Given the description of an element on the screen output the (x, y) to click on. 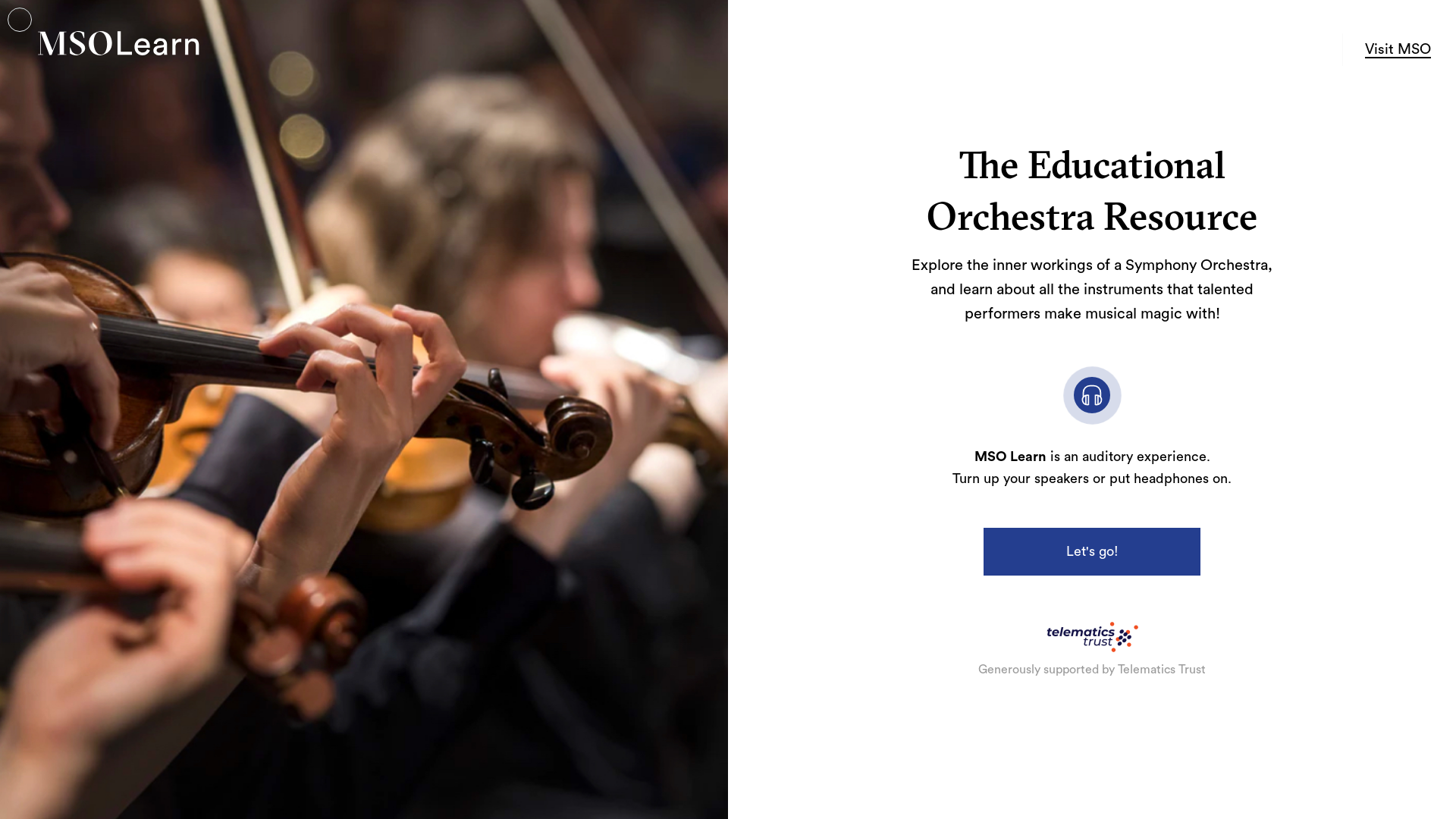
Let's go! Element type: text (1091, 551)
Visit MSO Element type: text (1397, 50)
